Given the description of an element on the screen output the (x, y) to click on. 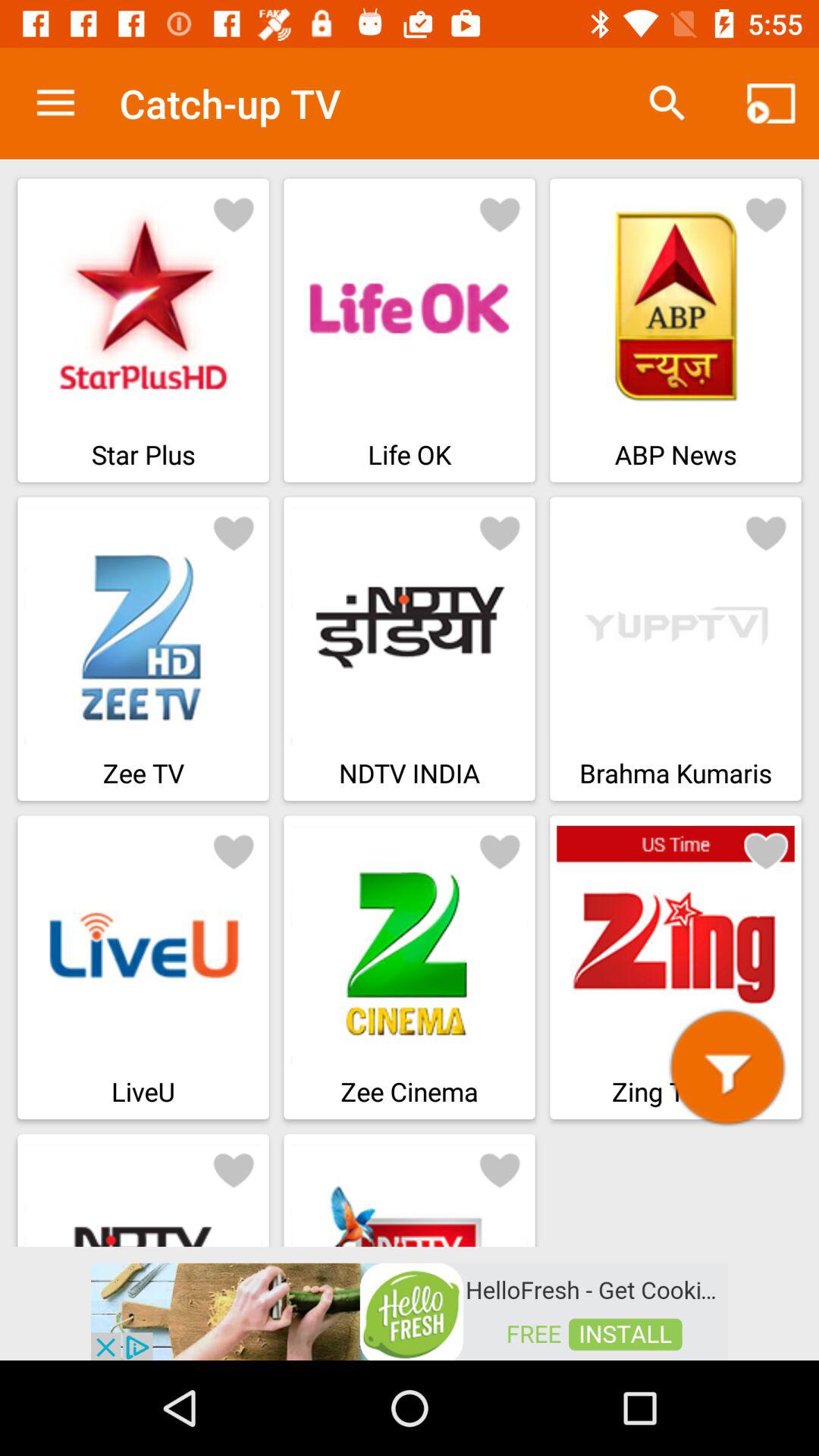
good (766, 213)
